Given the description of an element on the screen output the (x, y) to click on. 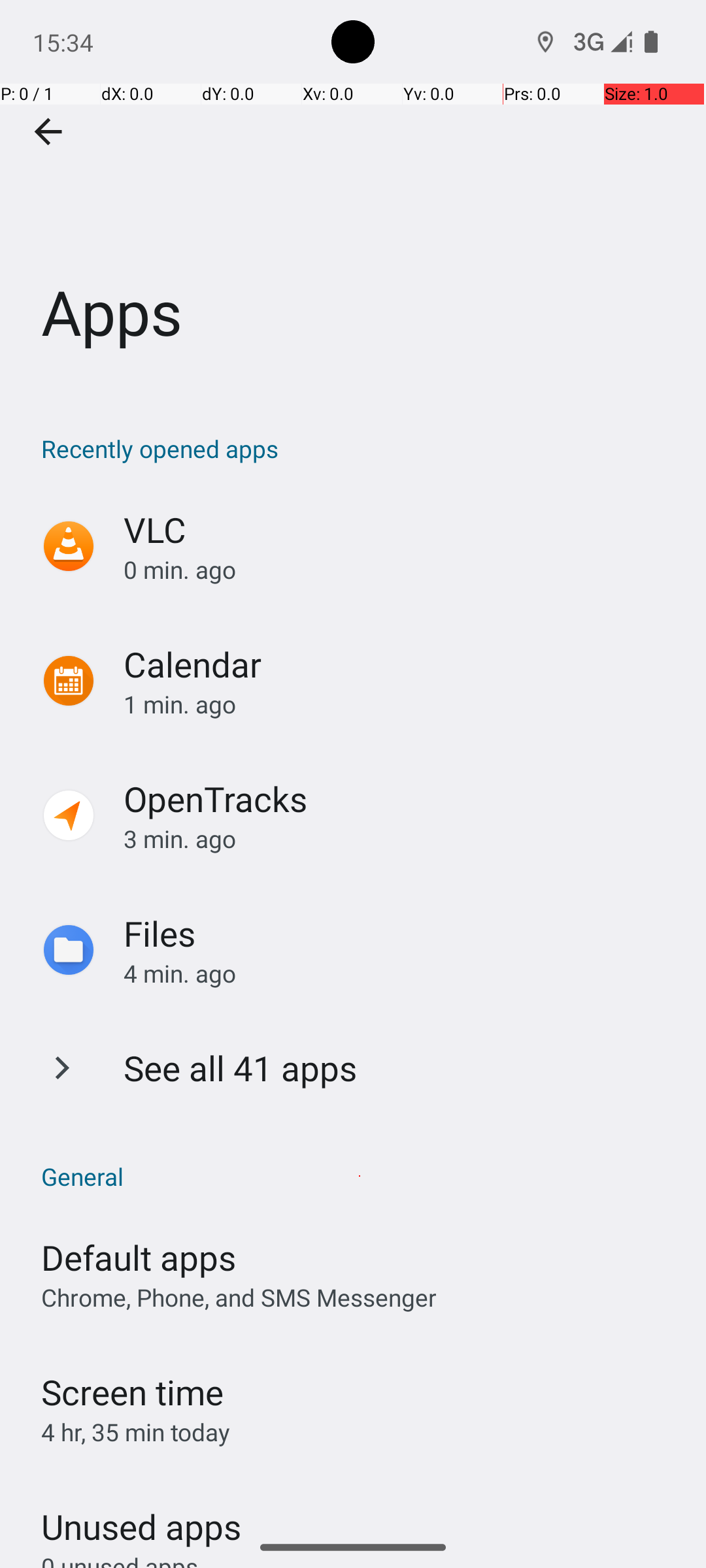
Recently opened apps Element type: android.widget.TextView (359, 448)
0 min. ago Element type: android.widget.TextView (400, 569)
1 min. ago Element type: android.widget.TextView (400, 703)
3 min. ago Element type: android.widget.TextView (400, 838)
4 min. ago Element type: android.widget.TextView (400, 972)
See all 41 apps Element type: android.widget.TextView (239, 1067)
Default apps Element type: android.widget.TextView (138, 1257)
Chrome, Phone, and SMS Messenger Element type: android.widget.TextView (238, 1296)
4 hr, 35 min today Element type: android.widget.TextView (135, 1431)
Unused apps Element type: android.widget.TextView (141, 1514)
